Given the description of an element on the screen output the (x, y) to click on. 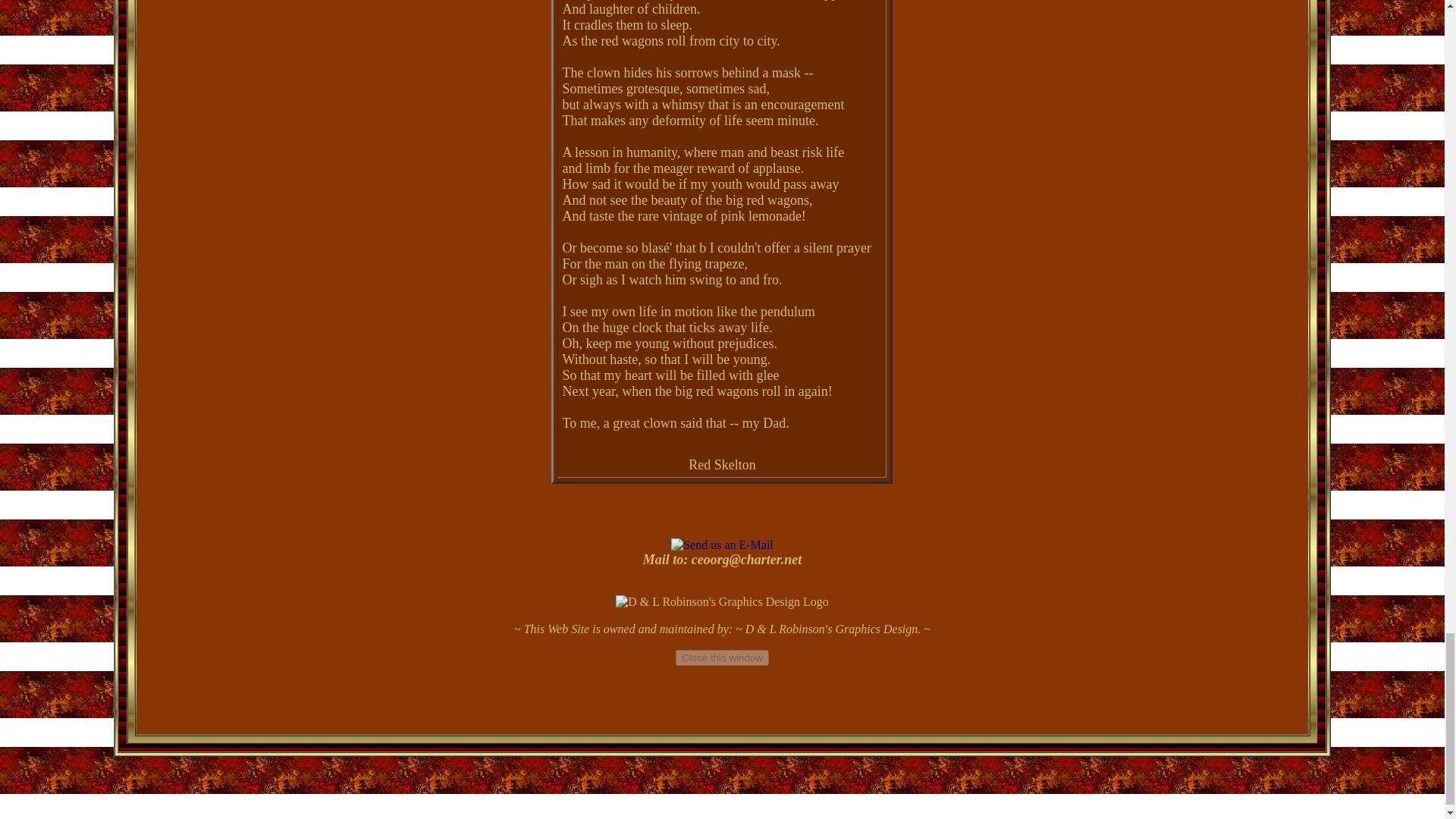
Close this window (721, 657)
